Given the description of an element on the screen output the (x, y) to click on. 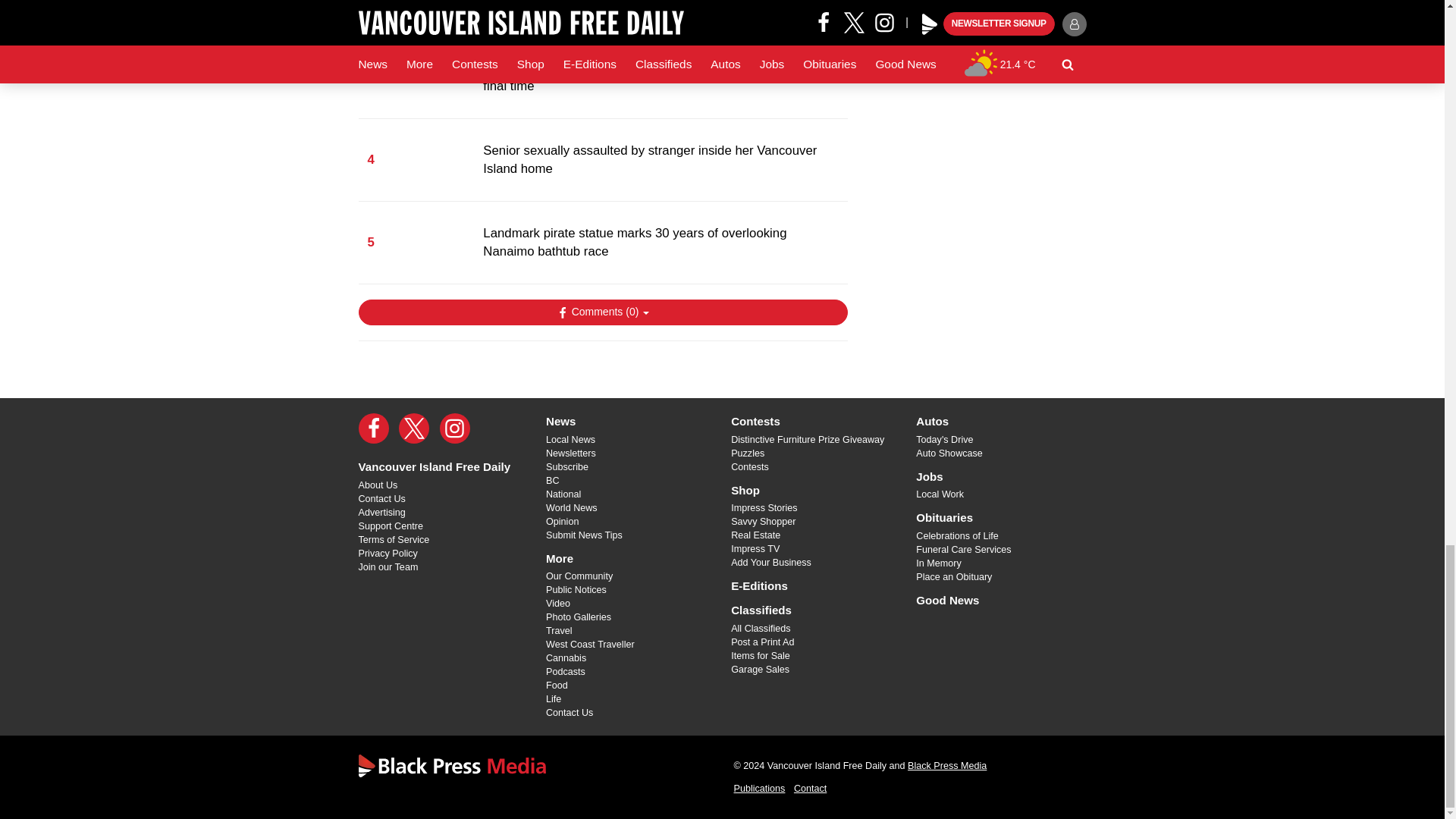
Facebook (373, 428)
Instagram (454, 428)
Show Comments (602, 312)
X (413, 428)
